Given the description of an element on the screen output the (x, y) to click on. 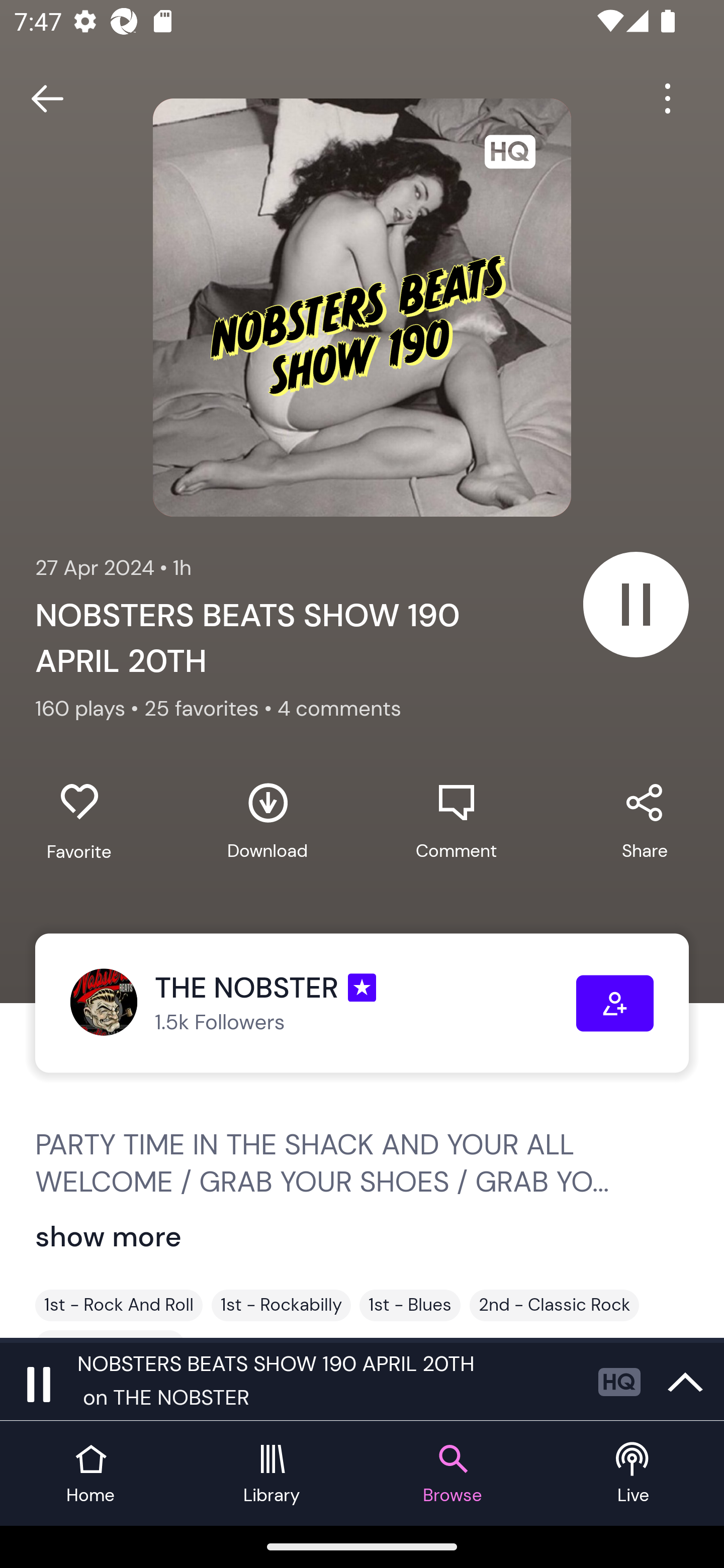
25 favorites •  (210, 708)
4 comments (339, 708)
Favorite (79, 821)
Download (267, 821)
Comment (455, 821)
Share (644, 821)
Follow (614, 1003)
1st - Rock And Roll (118, 1304)
1st - Rockabilly (281, 1304)
1st - Blues (409, 1304)
2nd - Classic Rock (554, 1304)
Home tab Home (90, 1473)
Library tab Library (271, 1473)
Browse tab Browse (452, 1473)
Live tab Live (633, 1473)
